Given the description of an element on the screen output the (x, y) to click on. 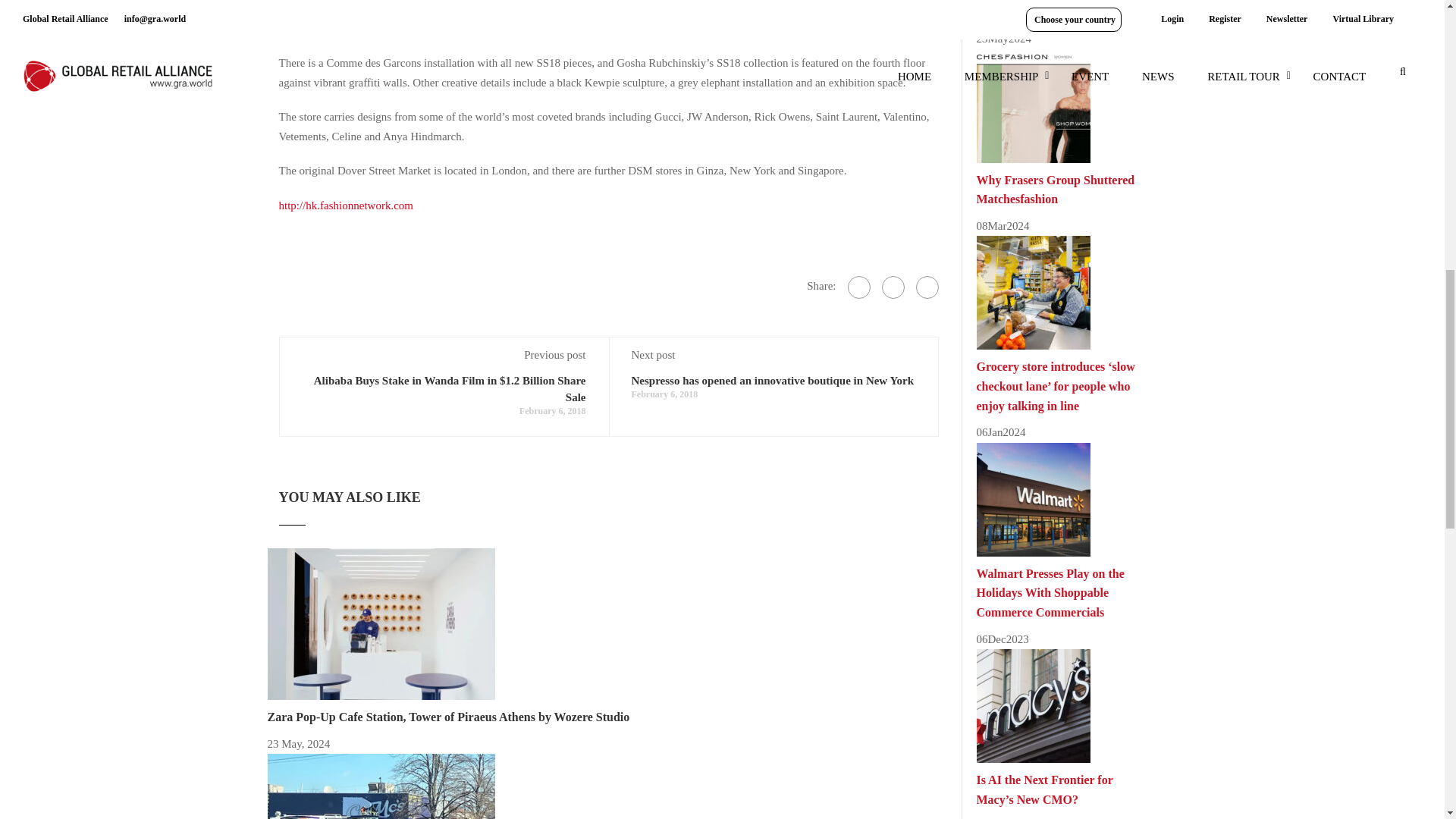
zara-popup-cafe-athens (380, 623)
Facebook (858, 287)
Twitter (892, 287)
